Given the description of an element on the screen output the (x, y) to click on. 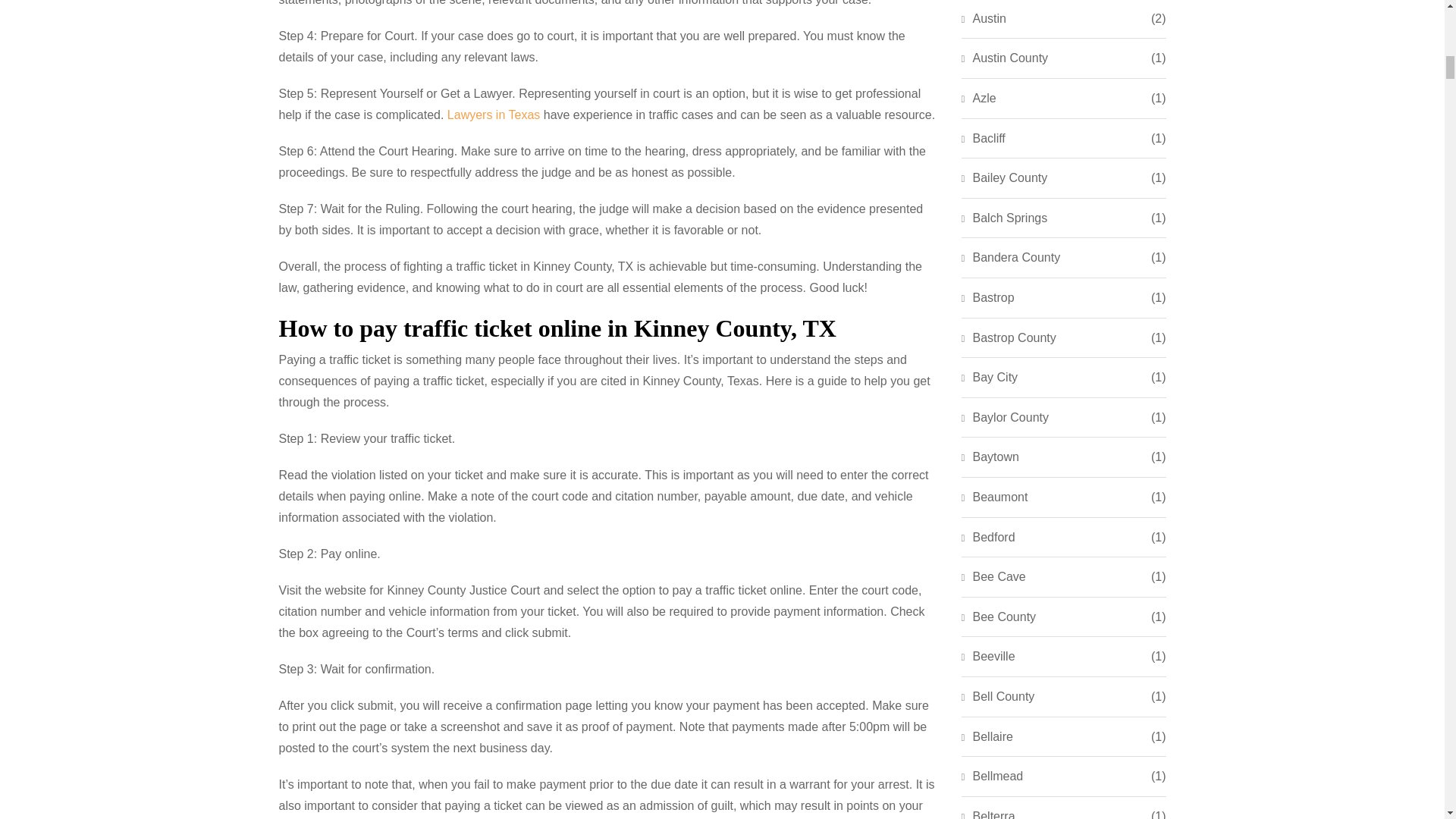
Lawyers in Texas (493, 114)
